Given the description of an element on the screen output the (x, y) to click on. 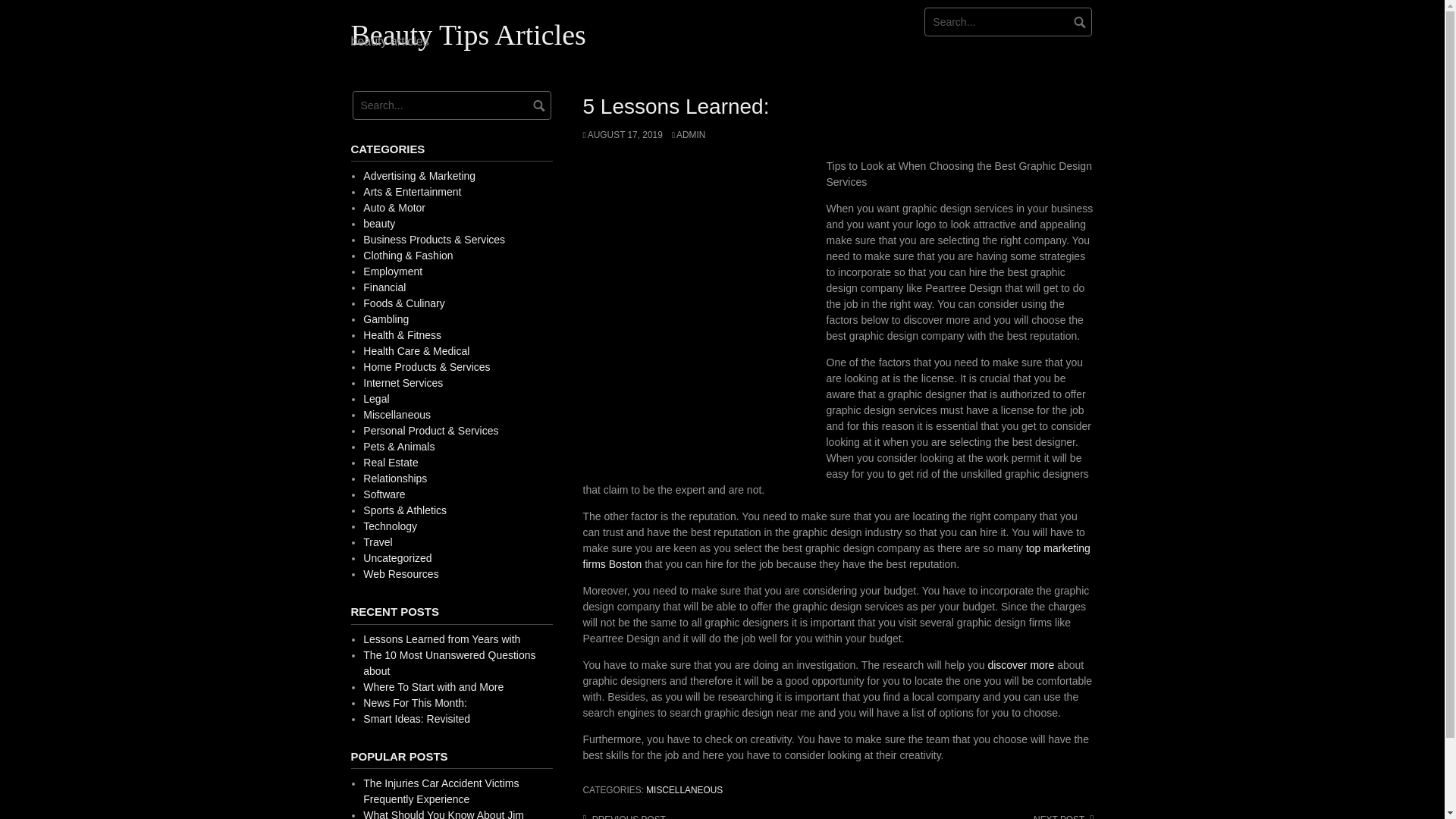
Software (383, 494)
Real Estate (389, 462)
Beauty Tips Articles (467, 34)
Relationships (394, 478)
Search for: (451, 104)
Web Resources (400, 573)
Technology (389, 526)
Internet Services (402, 382)
Financial (384, 287)
top marketing firms Boston (835, 556)
